Given the description of an element on the screen output the (x, y) to click on. 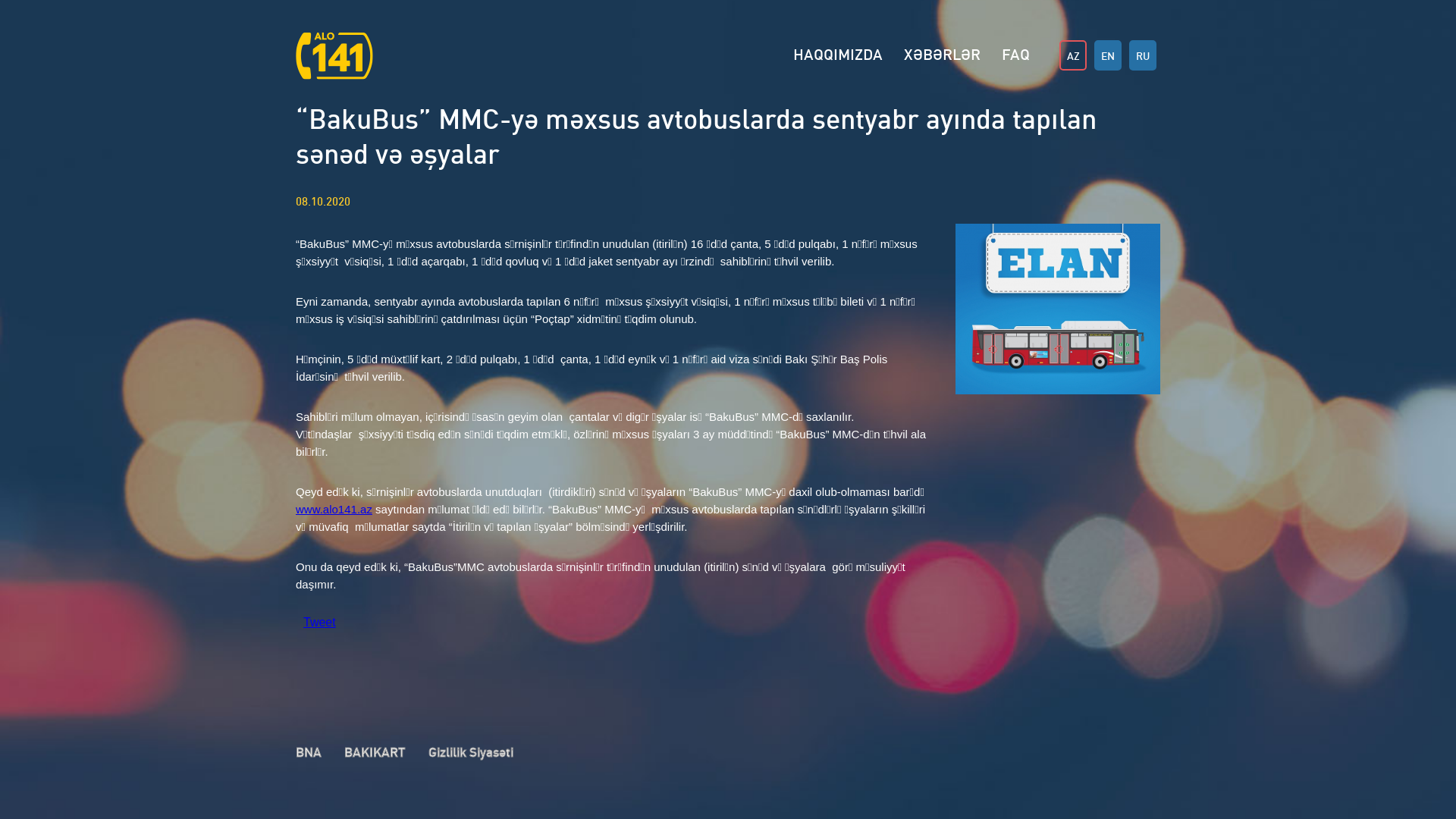
BNA Element type: text (308, 751)
RU Element type: text (1142, 55)
Tweet Element type: text (319, 622)
www.alo141.az Element type: text (333, 508)
FAQ Element type: text (1015, 53)
BAKIKART Element type: text (374, 751)
AZ Element type: text (1072, 55)
HAQQIMIZDA Element type: text (837, 53)
EN Element type: text (1107, 55)
